Given the description of an element on the screen output the (x, y) to click on. 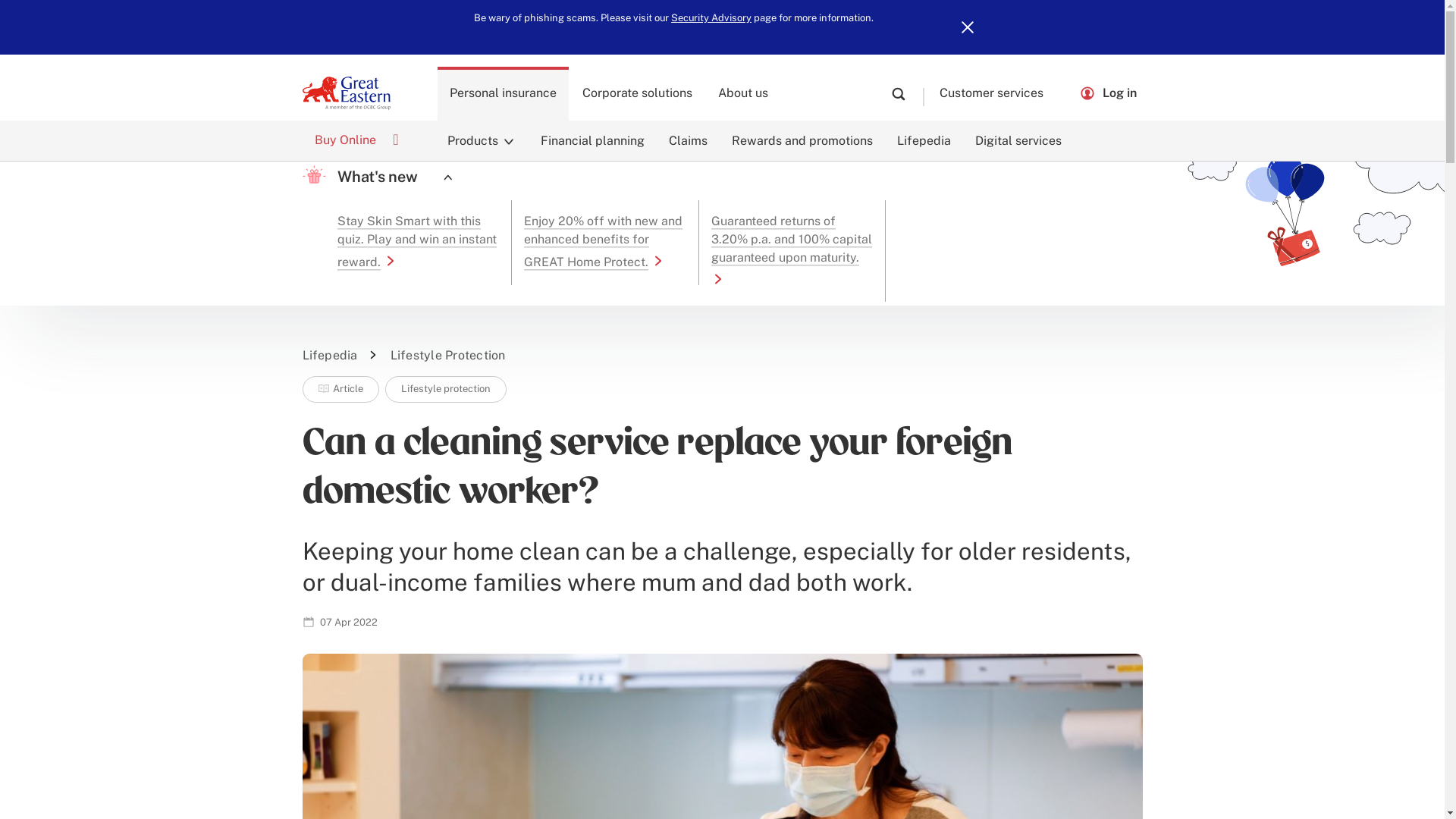
Lifepedia (922, 139)
Security Advisory (711, 17)
Buy Online (355, 140)
Buy Online (355, 140)
Digital services (1018, 139)
About us (743, 93)
Products (481, 139)
Products (481, 139)
Great Eastern (345, 93)
Financial planning (591, 139)
Rewards and promotions (801, 139)
Corporate solutions (637, 93)
Personal insurance (503, 93)
Personal insurance (503, 93)
Claims (687, 139)
